Given the description of an element on the screen output the (x, y) to click on. 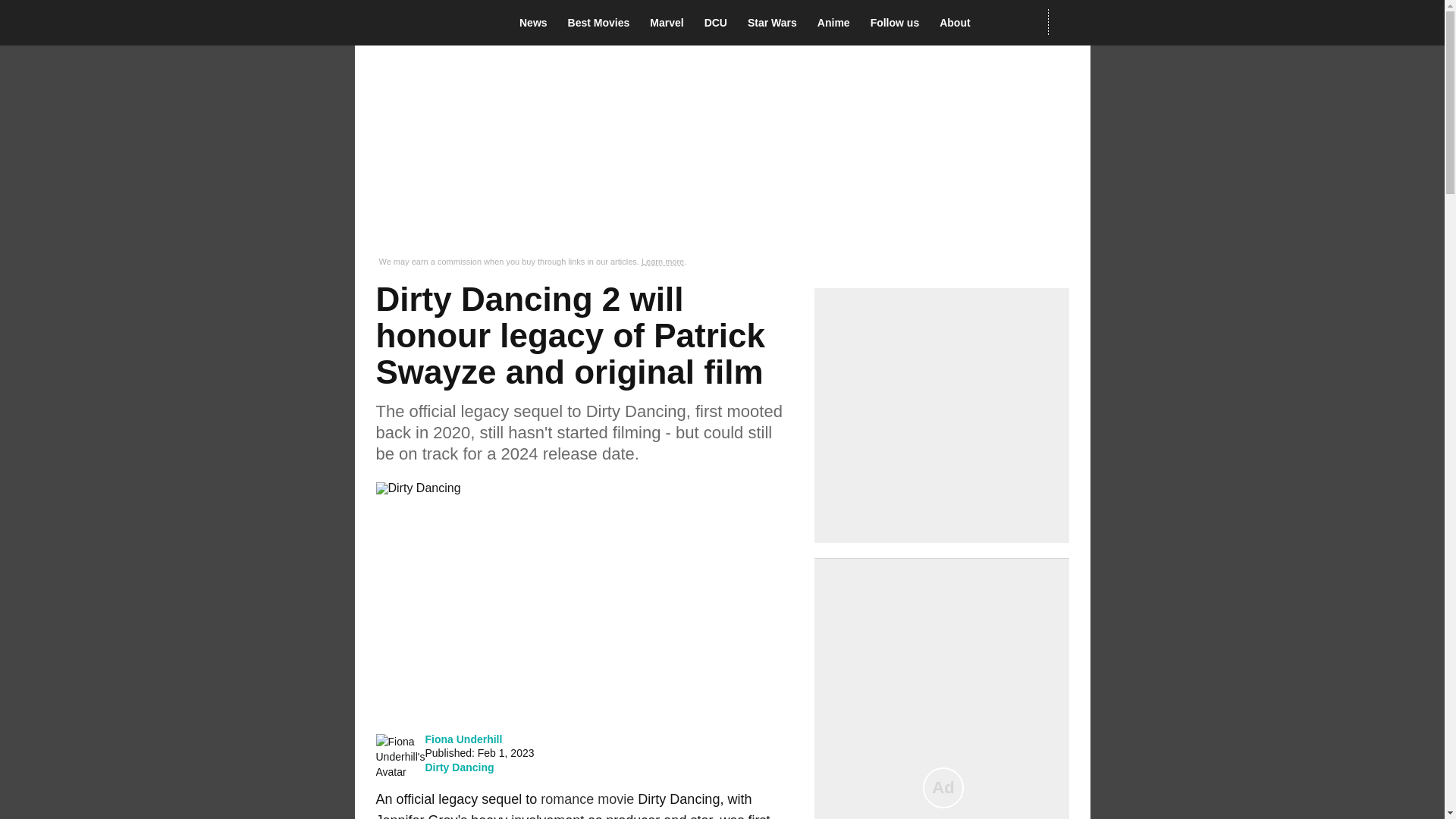
Anime News (837, 22)
Network N Media (1068, 22)
Learn more (663, 261)
Star Wars (777, 22)
Follow us (899, 22)
Star Wars News (777, 22)
Marvel Cinematic Universe News (671, 22)
Anime (837, 22)
Marvel (671, 22)
romance movie (586, 798)
